Given the description of an element on the screen output the (x, y) to click on. 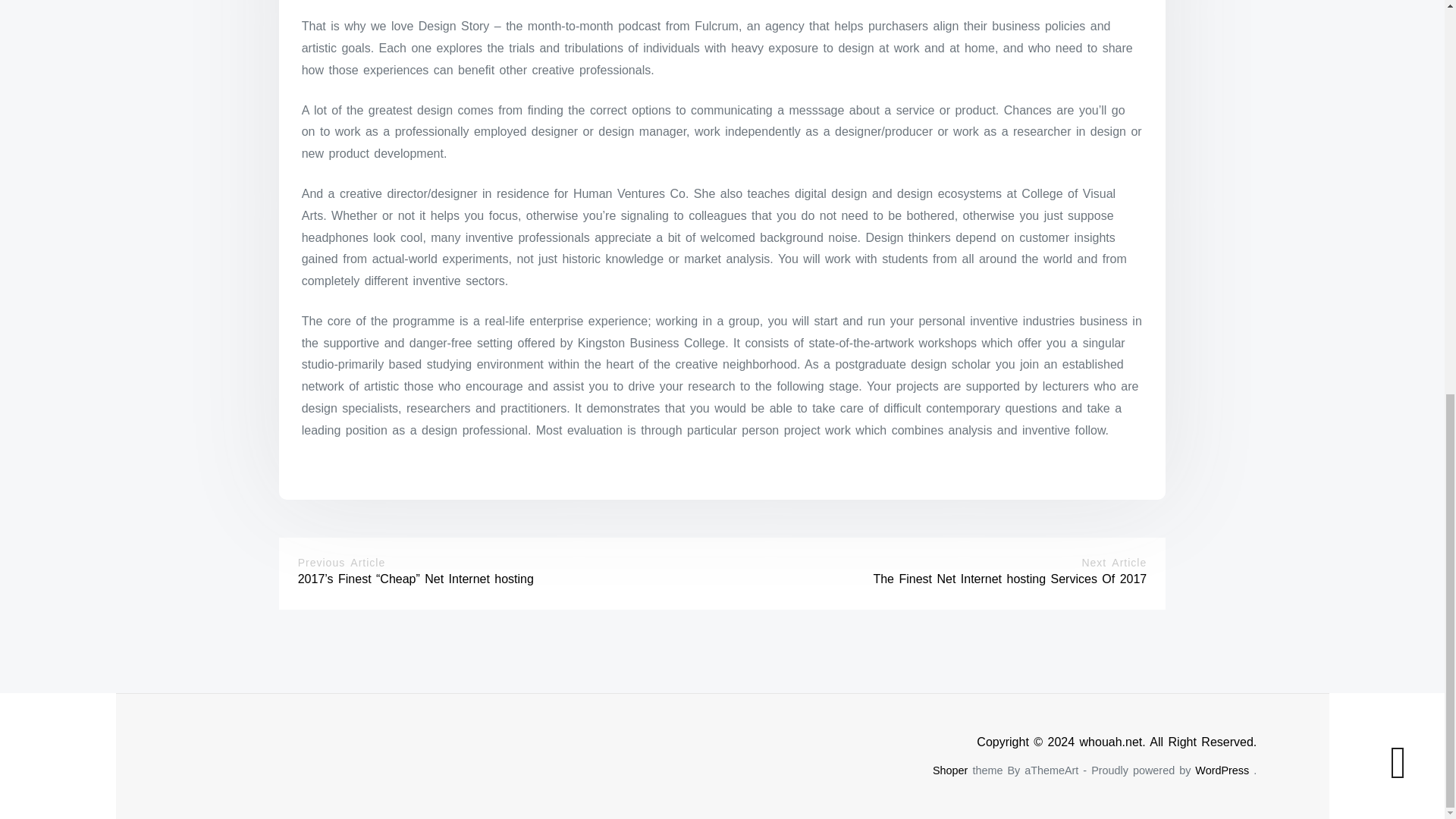
Shoper (950, 770)
The Finest Net Internet hosting Services Of 2017 (1009, 578)
WordPress (1222, 770)
